Given the description of an element on the screen output the (x, y) to click on. 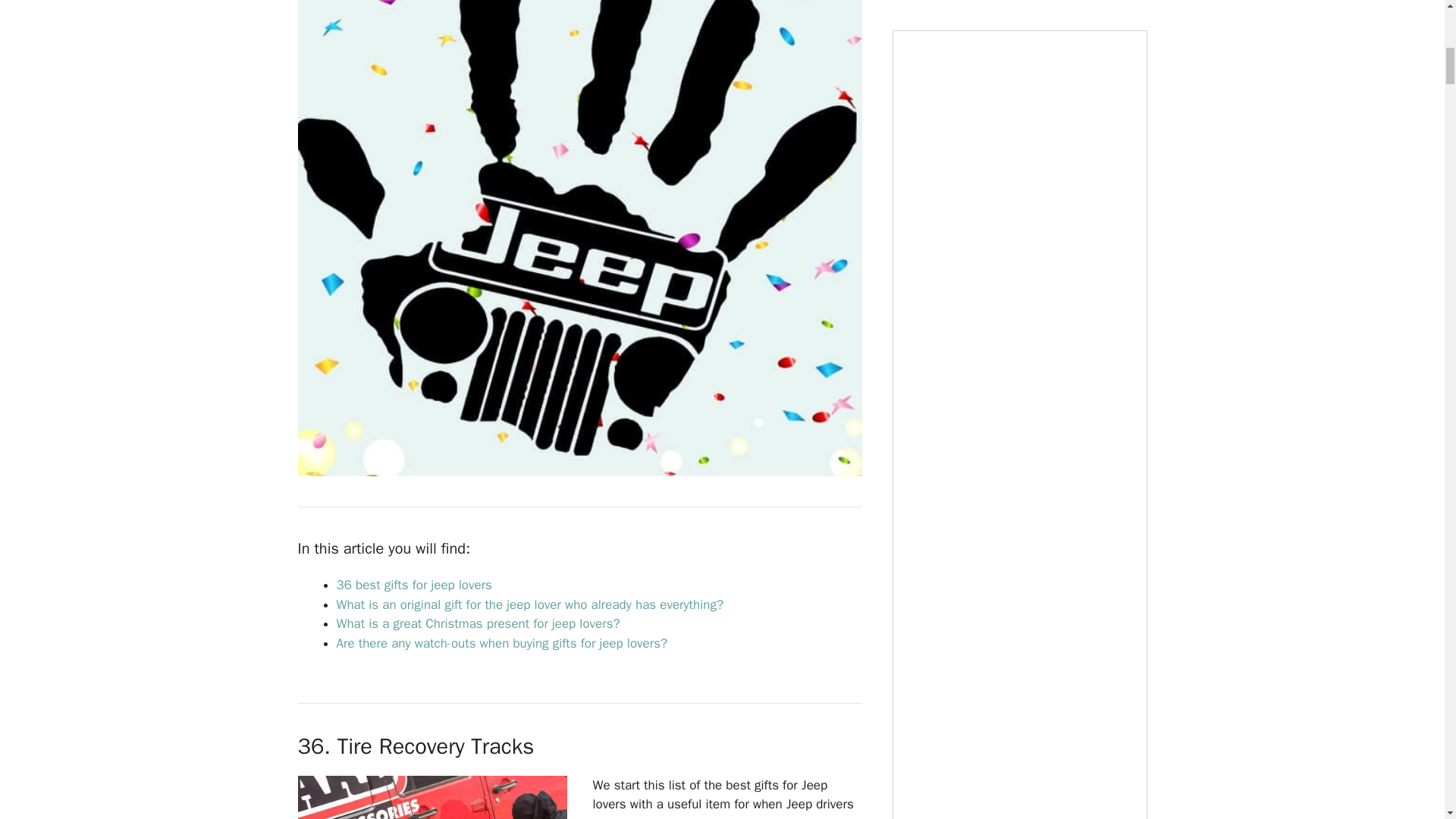
36 Best Gifts For Jeep Lovers 2 (431, 797)
